Given the description of an element on the screen output the (x, y) to click on. 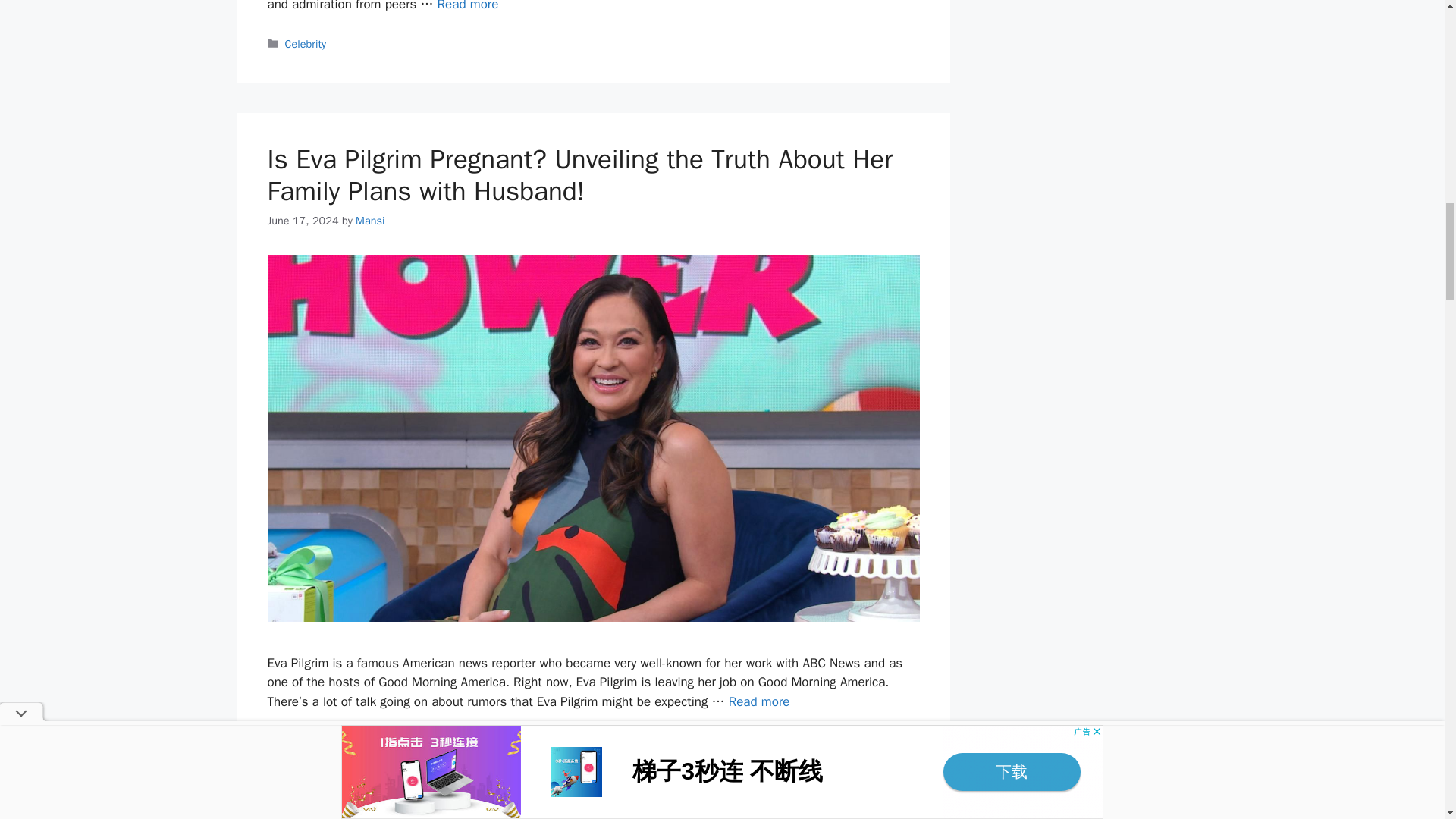
View all posts by Mansi (369, 220)
Read more (468, 6)
Celebrity (305, 43)
Celebrity (305, 740)
Mansi (369, 220)
Read more (759, 701)
Pregnant (354, 740)
